Given the description of an element on the screen output the (x, y) to click on. 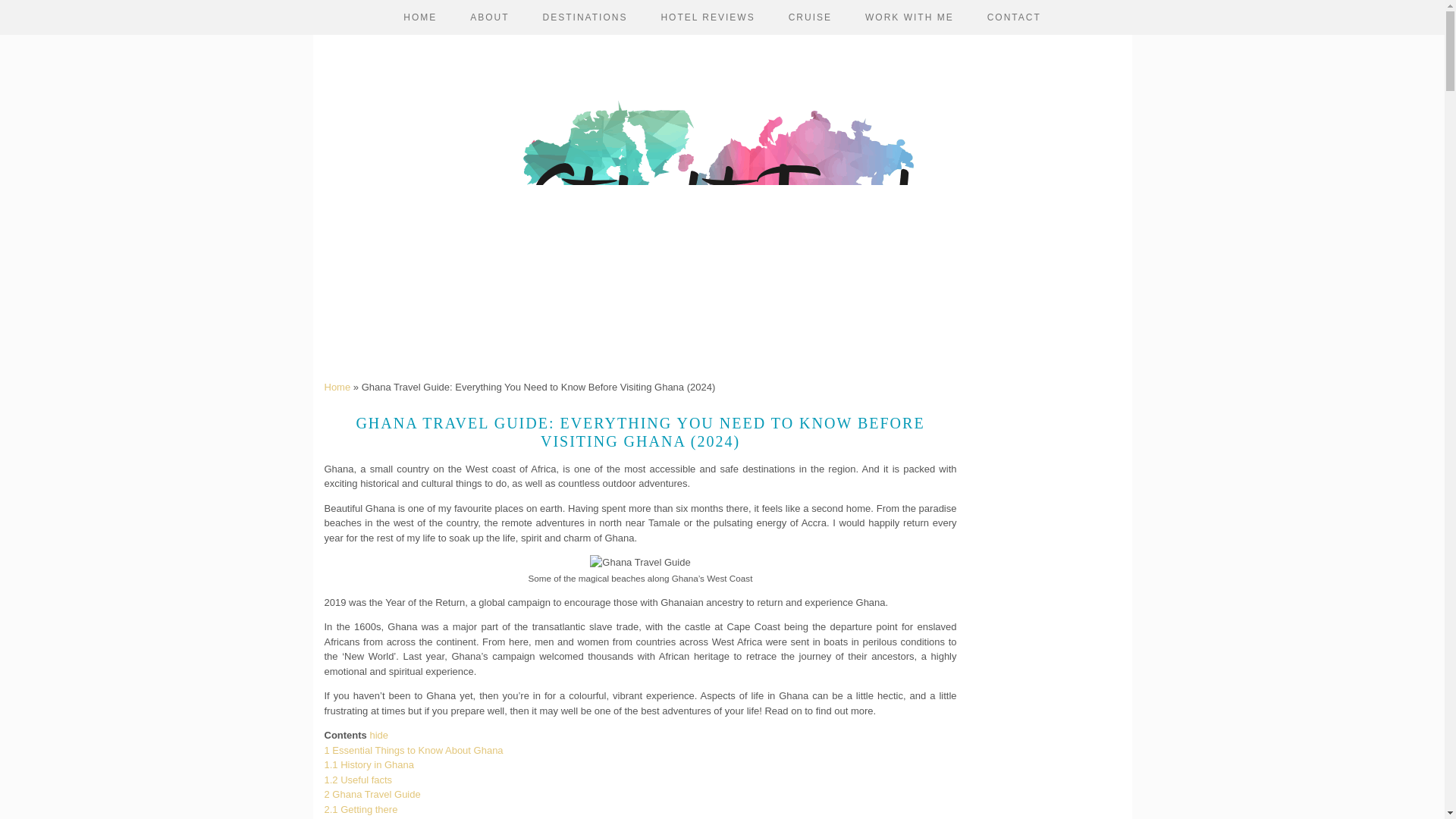
ABOUT (488, 17)
DESTINATIONS (585, 17)
HOME (419, 17)
